Given the description of an element on the screen output the (x, y) to click on. 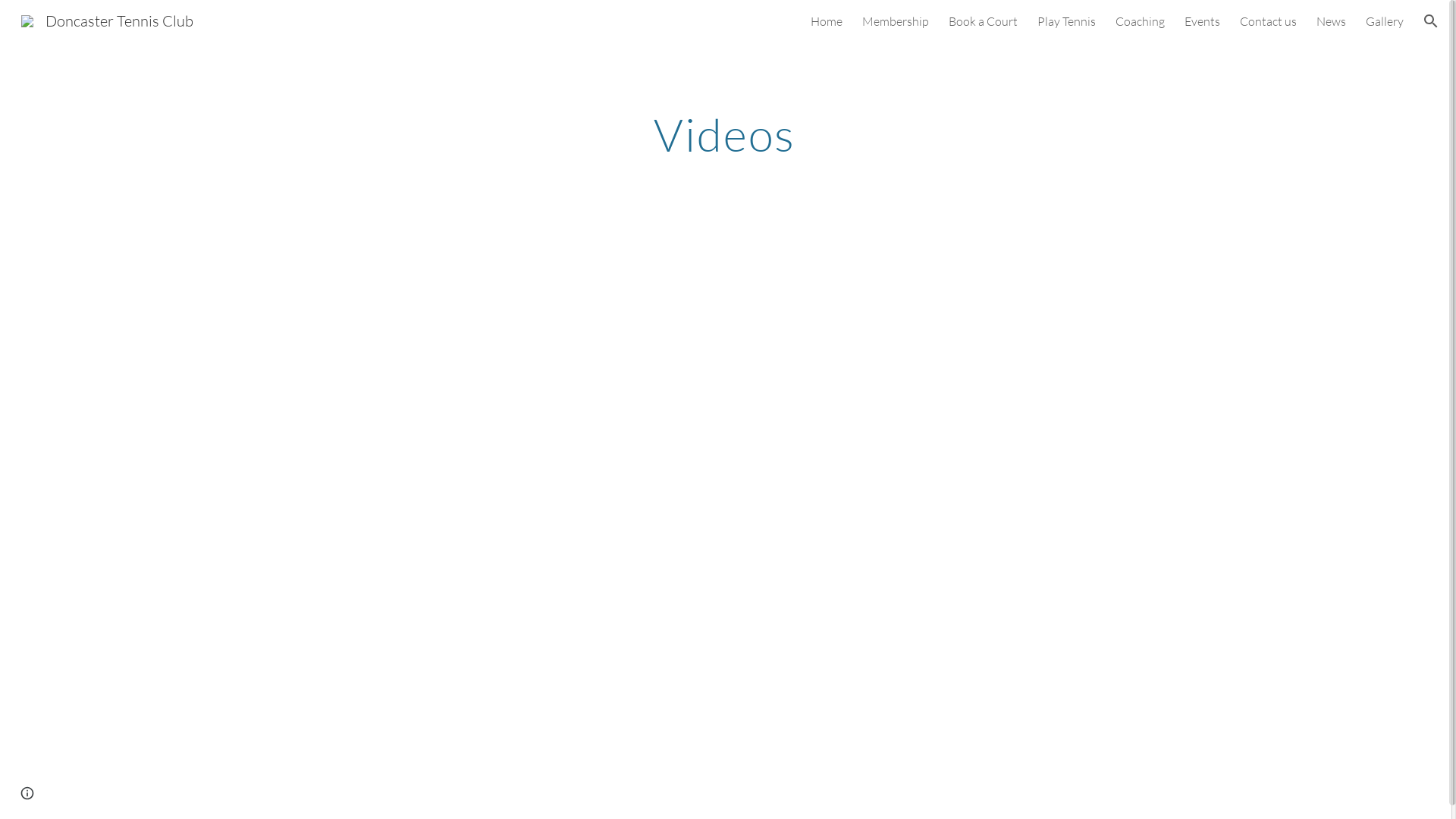
Contact us Element type: text (1267, 20)
Book a Court Element type: text (982, 20)
Play Tennis Element type: text (1066, 20)
News Element type: text (1331, 20)
Membership Element type: text (895, 20)
Coaching Element type: text (1139, 20)
Gallery Element type: text (1384, 20)
Home Element type: text (826, 20)
Doncaster Tennis Club Element type: text (107, 18)
Events Element type: text (1202, 20)
